Given the description of an element on the screen output the (x, y) to click on. 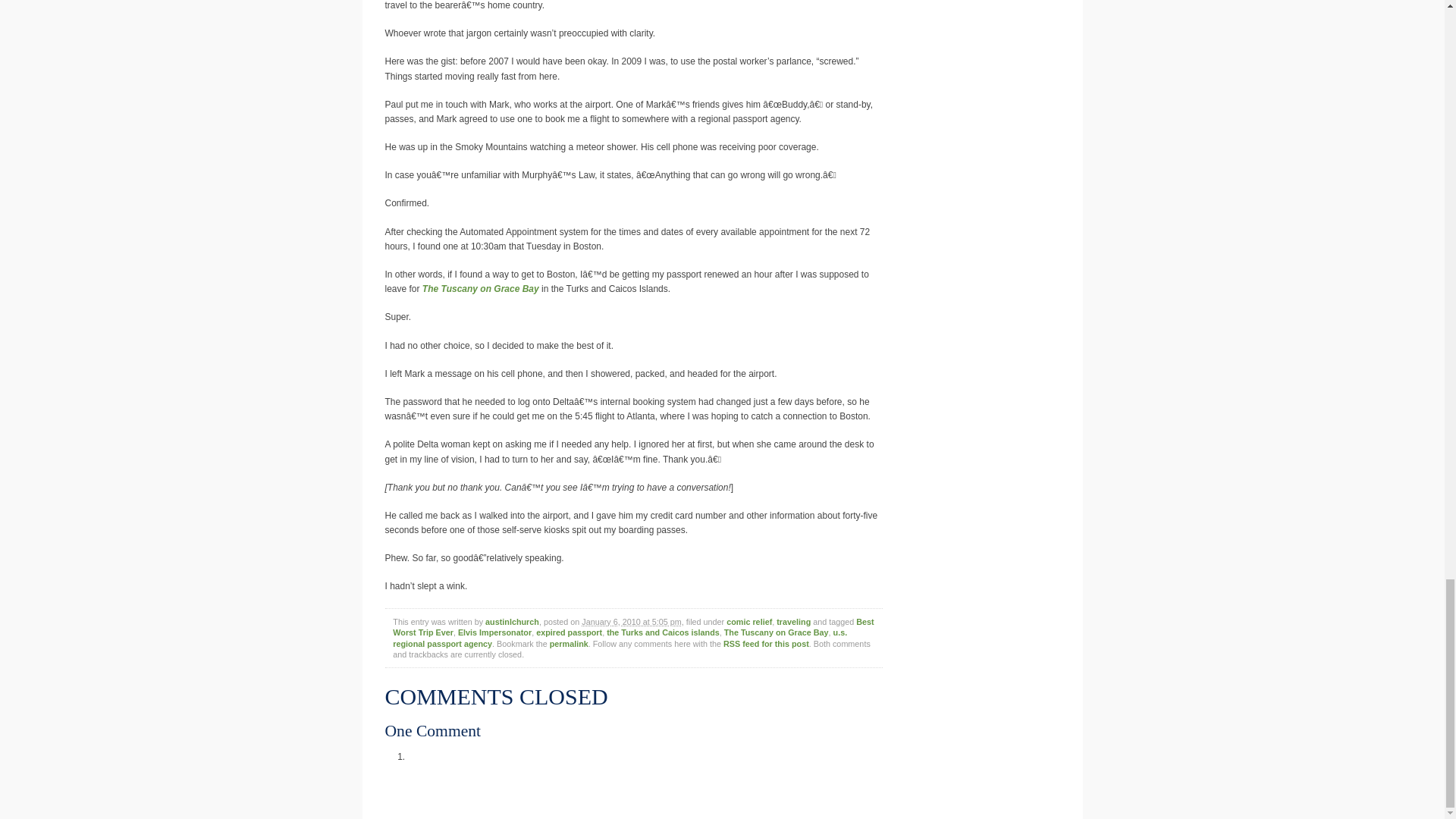
u.s. regional passport agency (620, 637)
expired passport (568, 632)
The Tuscany on Grace Bay (775, 632)
comic relief (748, 621)
The Tuscany on Grace Bay (480, 288)
View all posts by austinlchurch (511, 621)
2010-01-06T17:05:35-0500 (630, 621)
permalink (569, 643)
Elvis Impersonator (494, 632)
The Tuscany on Grace Bay (480, 288)
